Given the description of an element on the screen output the (x, y) to click on. 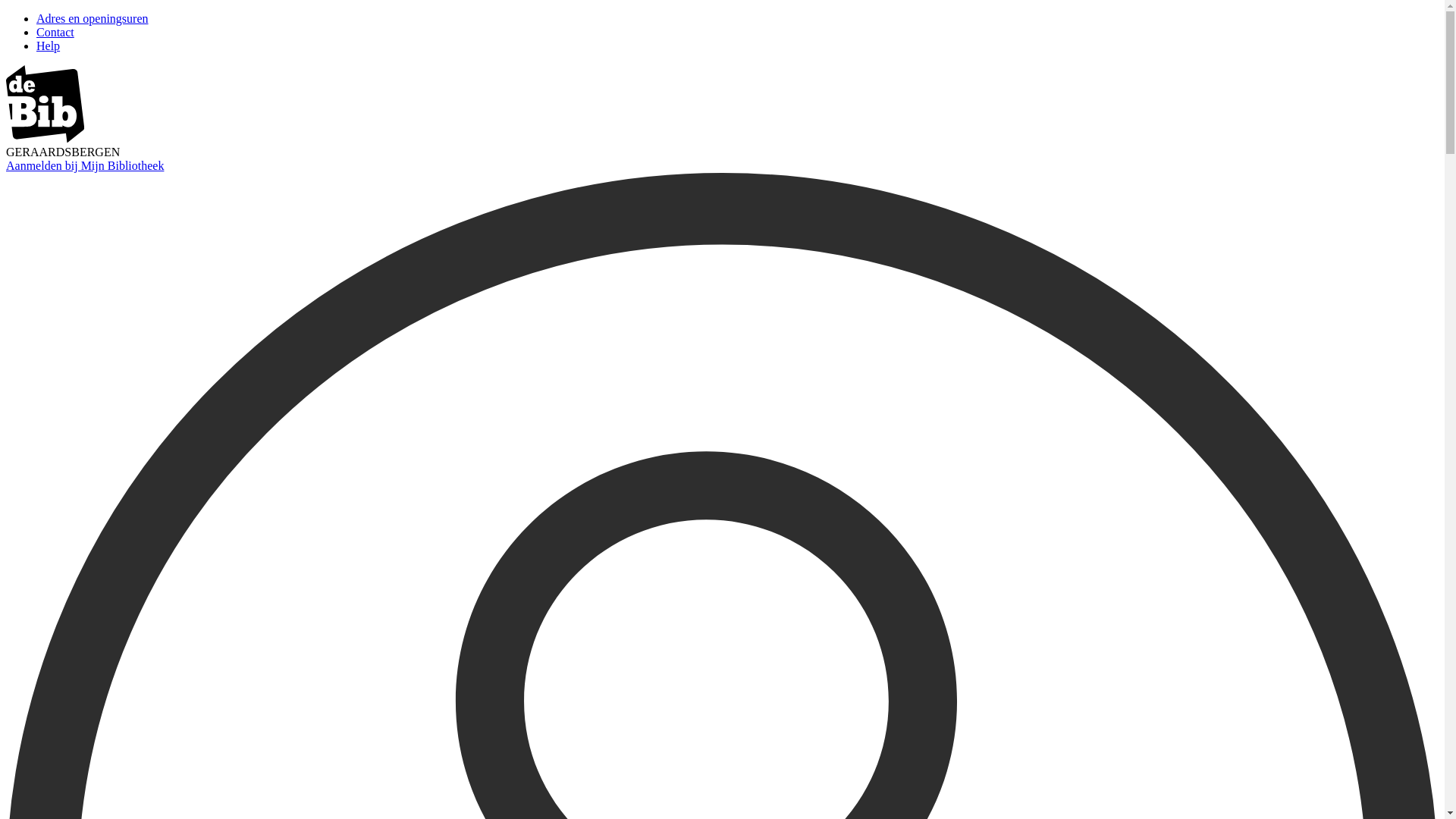
Adres en openingsuren Element type: text (92, 18)
Aanmelden bij Mijn Bibliotheek Element type: text (84, 165)
Overslaan en naar zoeken gaan Element type: text (6, 12)
image/svg+xml Element type: text (45, 137)
Contact Element type: text (55, 31)
Help Element type: text (47, 45)
